Given the description of an element on the screen output the (x, y) to click on. 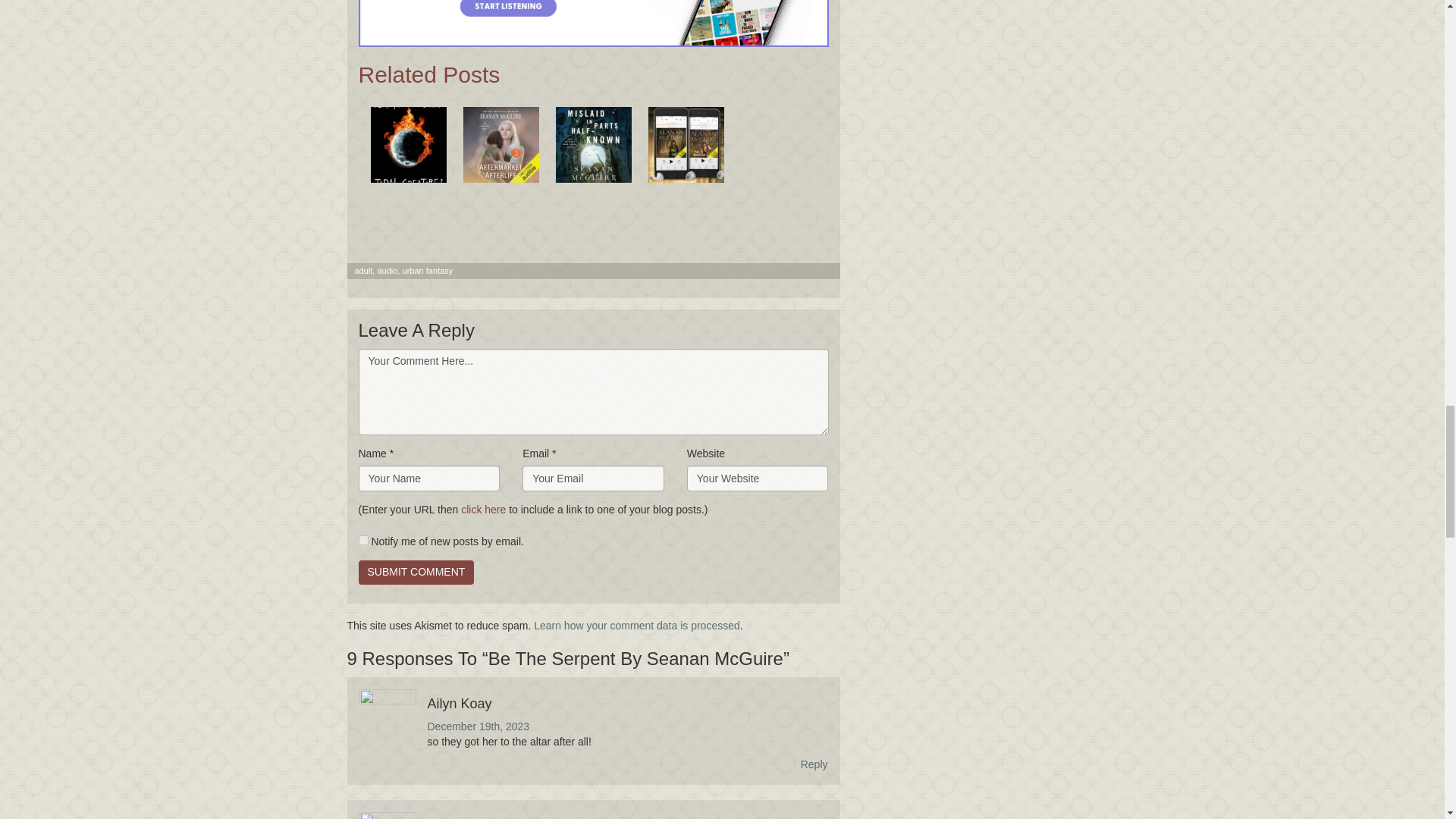
Submit Comment (416, 572)
subscribe (363, 540)
